Given the description of an element on the screen output the (x, y) to click on. 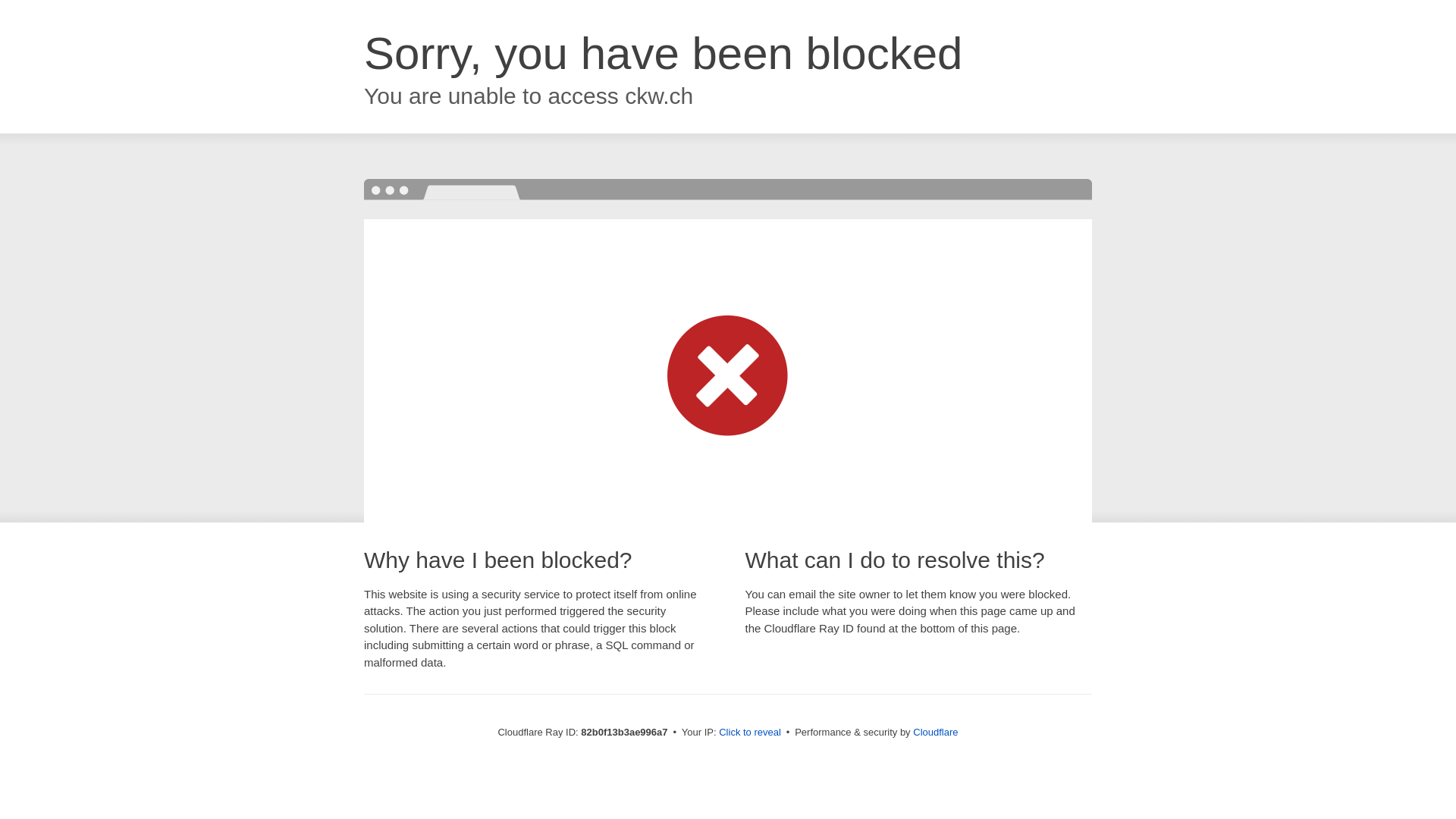
Cloudflare Element type: text (935, 731)
Click to reveal Element type: text (749, 732)
